Given the description of an element on the screen output the (x, y) to click on. 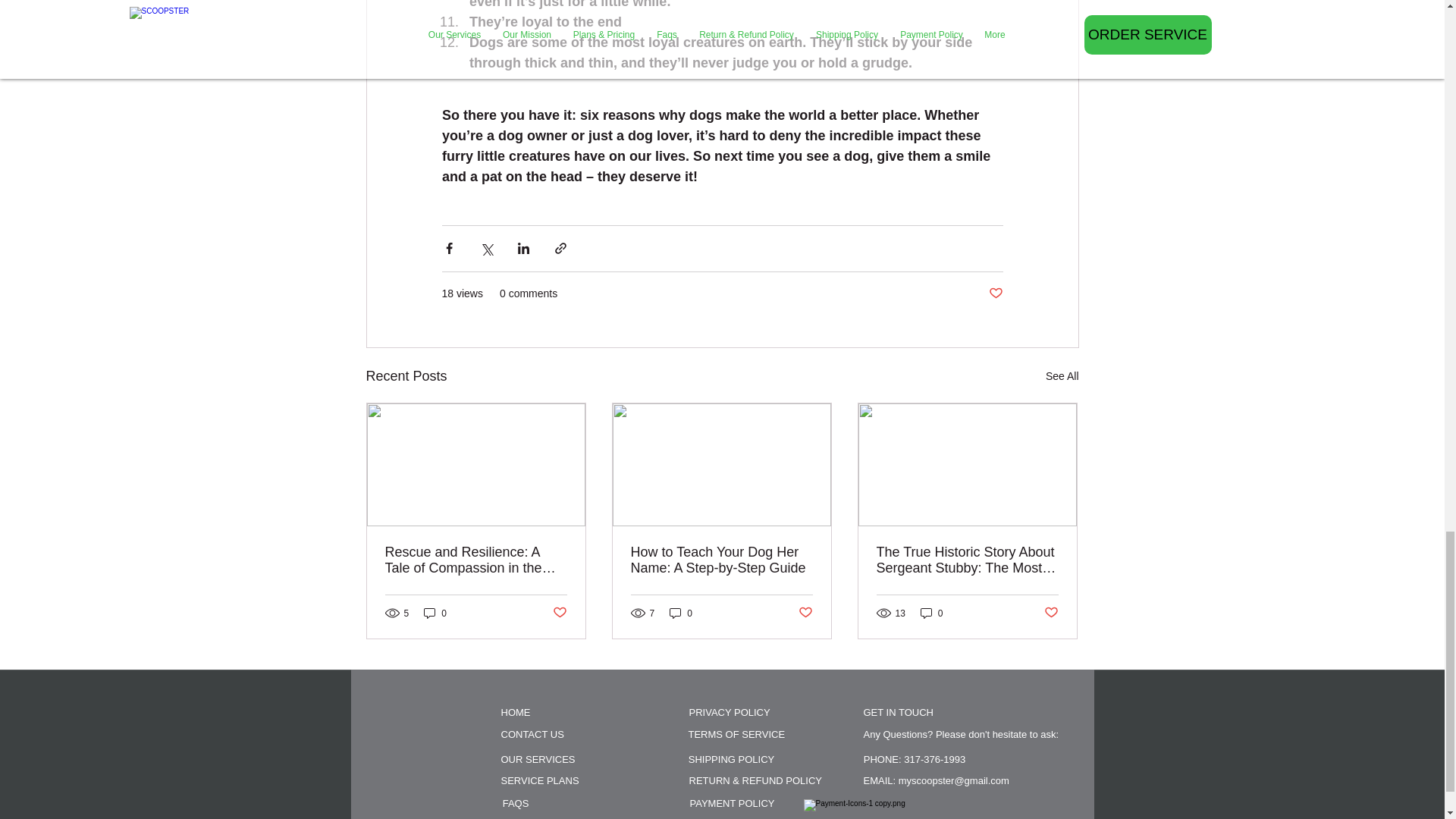
PRIVACY POLICY (729, 712)
PAYMENT POLICY (731, 802)
Post not marked as liked (1050, 612)
Post not marked as liked (558, 612)
How to Teach Your Dog Her Name: A Step-by-Step Guide (721, 560)
CONTACT US (531, 734)
OUR SERVICES (537, 759)
SERVICE PLANS (539, 780)
Post not marked as liked (804, 612)
0 (435, 612)
